Given the description of an element on the screen output the (x, y) to click on. 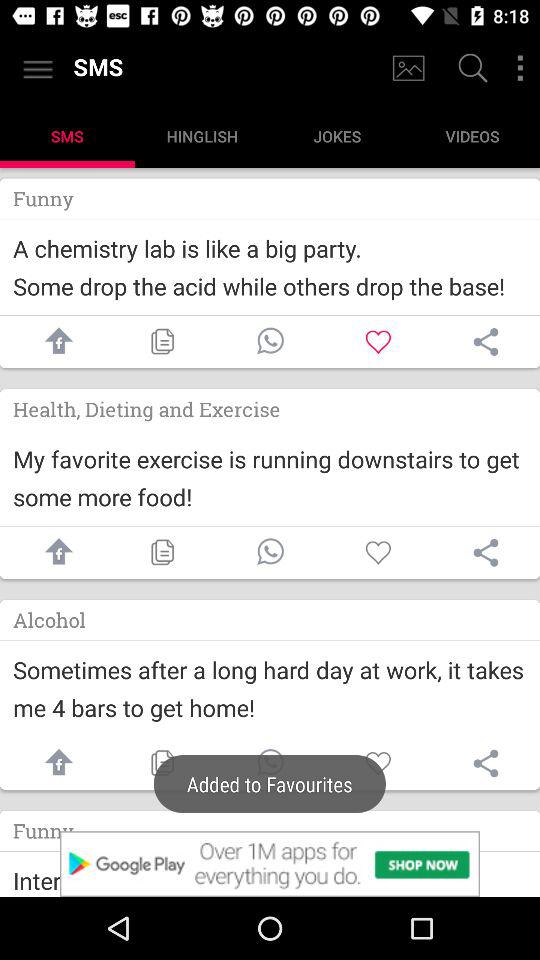
share with others (486, 552)
